Given the description of an element on the screen output the (x, y) to click on. 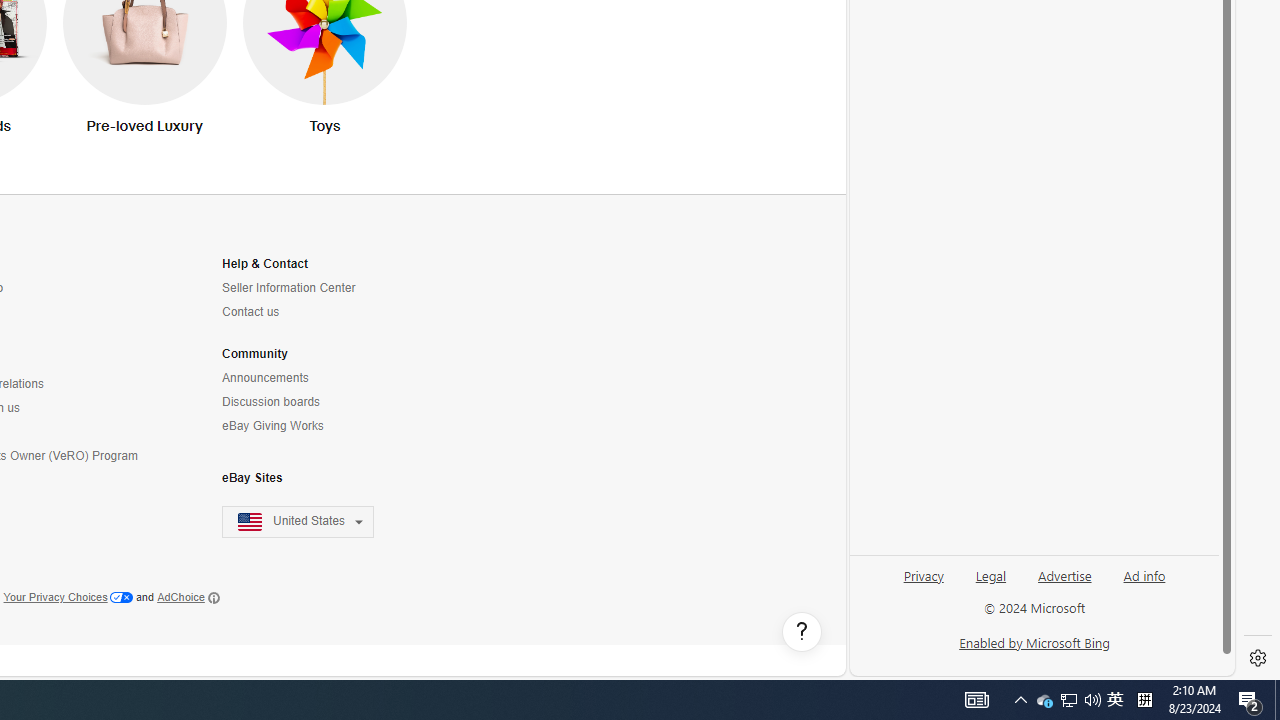
Seller Information Center (288, 288)
eBay Giving Works (310, 425)
eBay Giving Works (272, 425)
Help & Contact (264, 263)
Help, opens dialogs (801, 632)
eBay sites,United States (298, 522)
Discussion boards (310, 402)
Contact us (310, 312)
Seller Information Center (310, 288)
Announcements (310, 378)
